Given the description of an element on the screen output the (x, y) to click on. 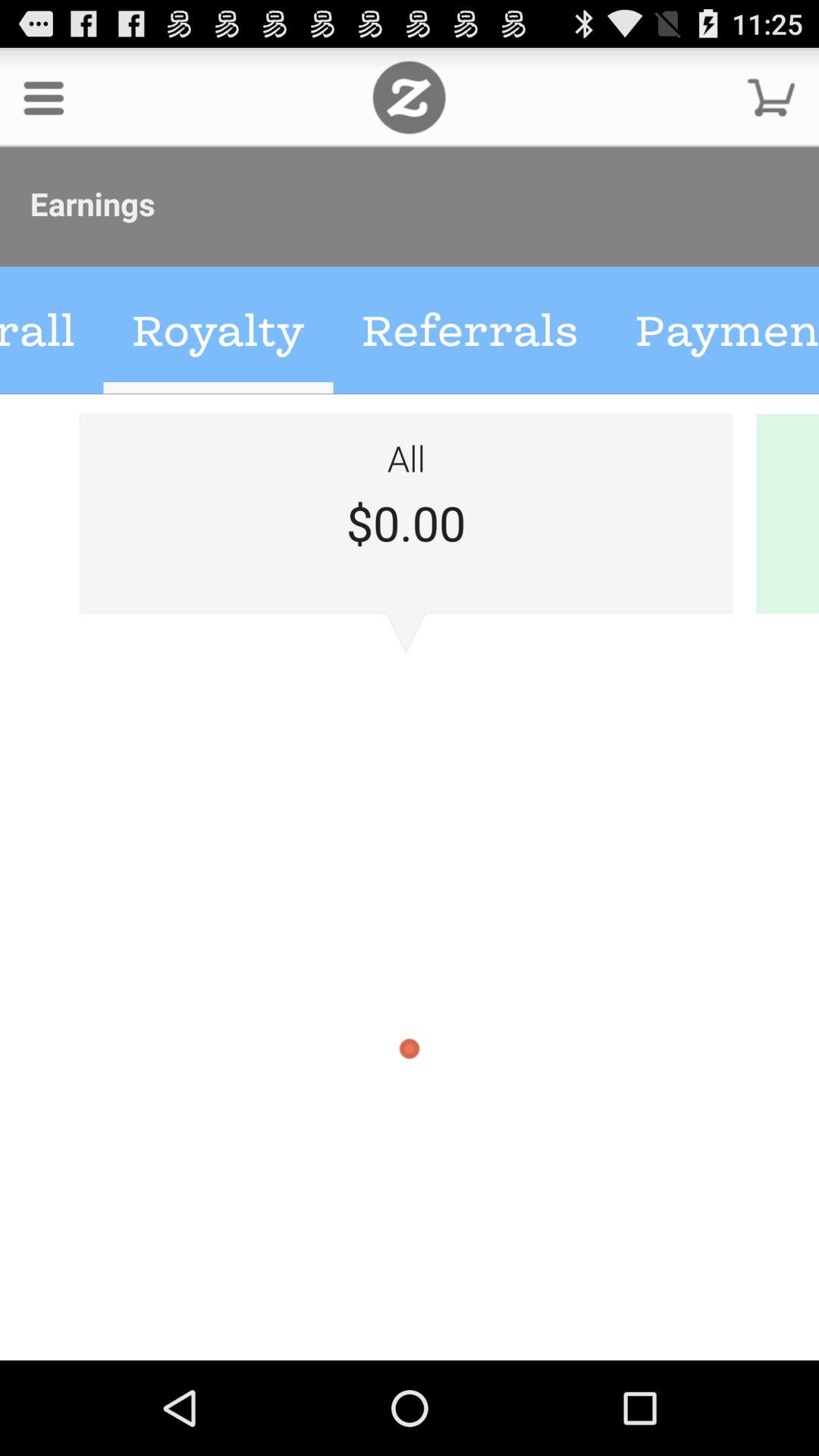
click on left of referrals (218, 330)
click on the button which is at the top right corner of the page (771, 97)
